Given the description of an element on the screen output the (x, y) to click on. 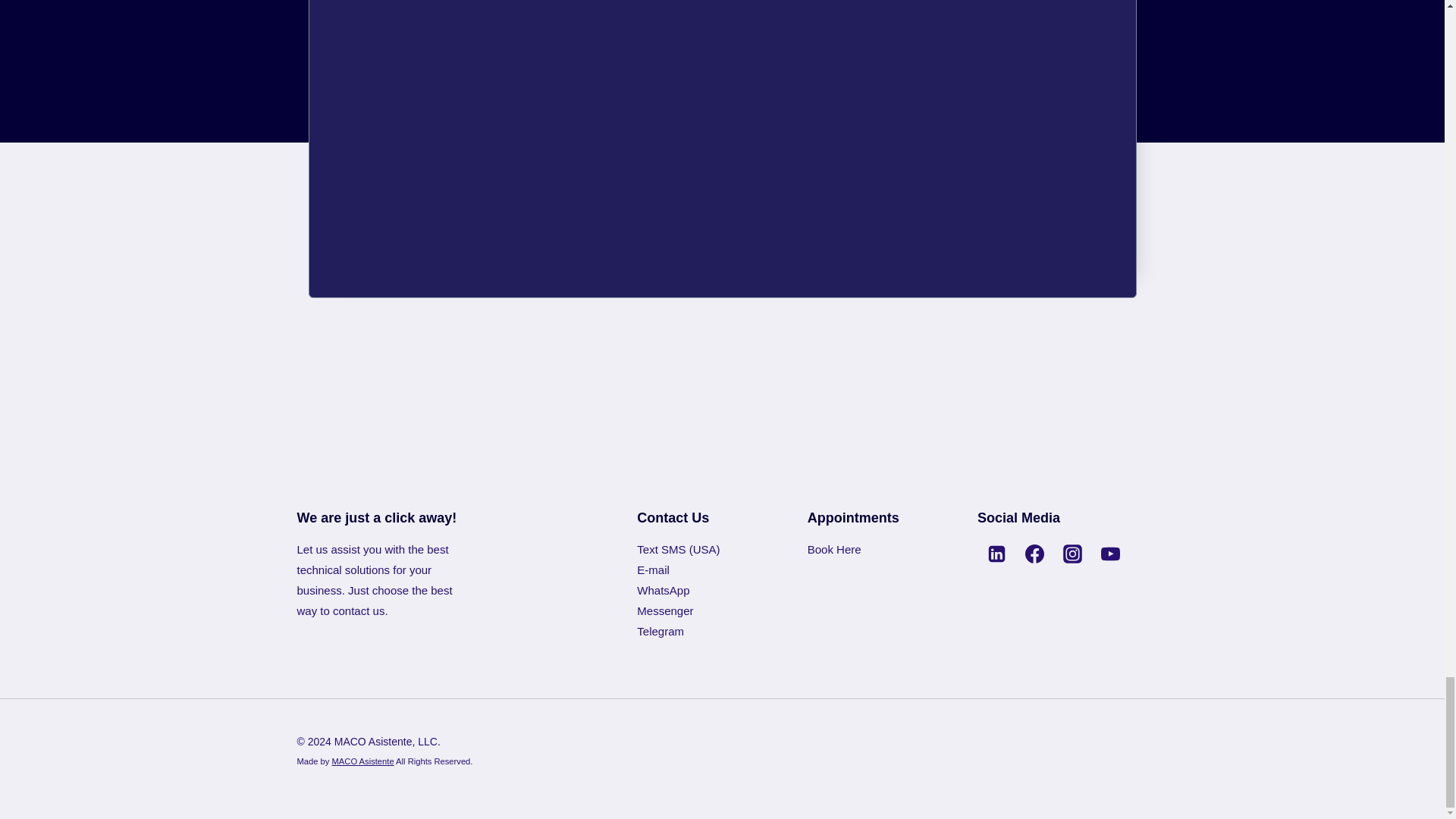
Book Here (834, 549)
Messenger (665, 610)
MACO Asistente (362, 760)
Telegram (660, 631)
WhatsApp (662, 590)
E-mail (653, 569)
